Given the description of an element on the screen output the (x, y) to click on. 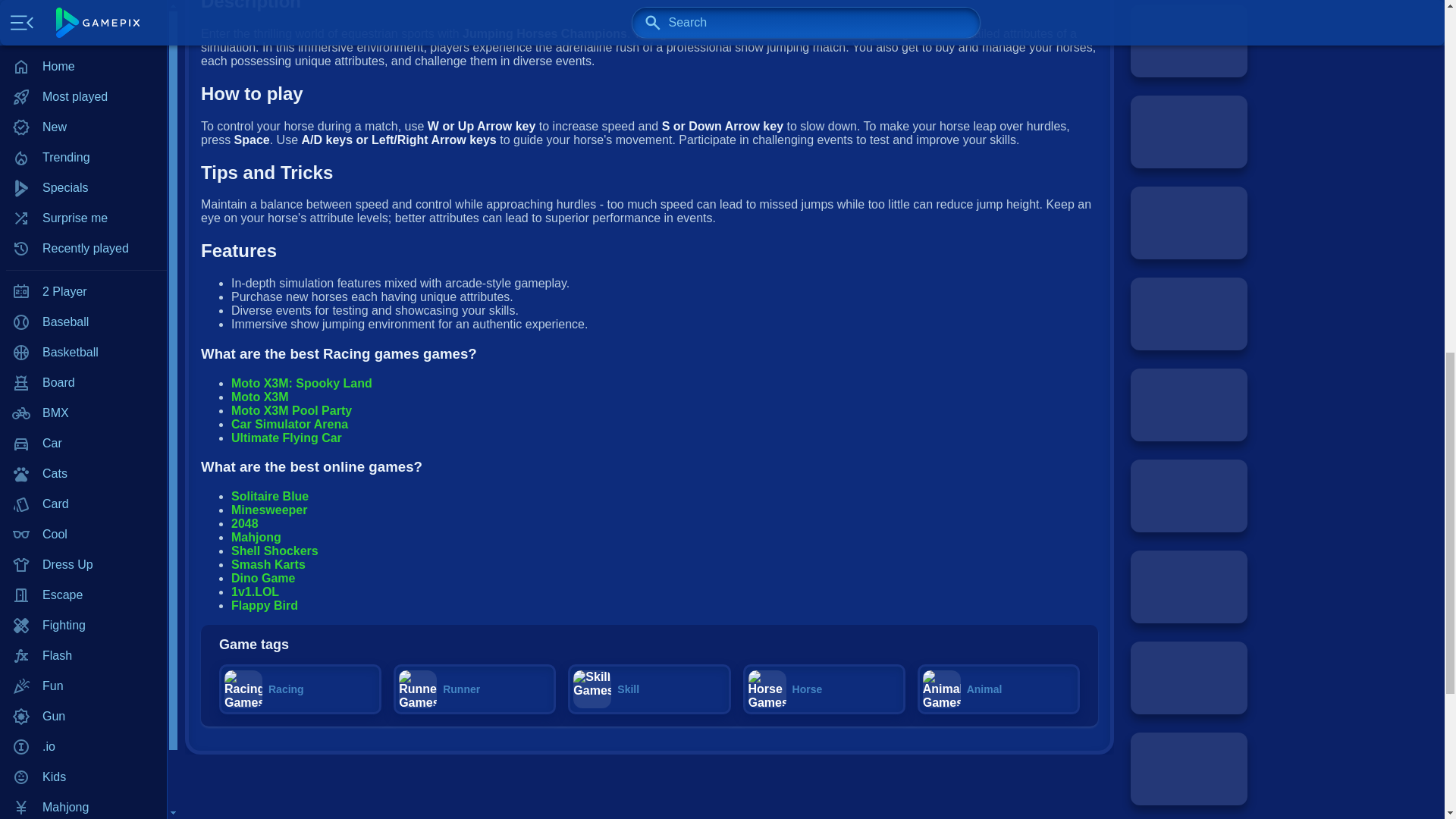
Racing (83, 140)
Word (83, 352)
Soccer (83, 291)
Puzzle (83, 110)
Solitaire (83, 231)
Math (83, 49)
War (83, 322)
Zombie (83, 382)
Poker (83, 79)
Mahjong (83, 2)
Snake (83, 261)
Mario (83, 19)
RPG (83, 170)
Shooter (83, 200)
